Given the description of an element on the screen output the (x, y) to click on. 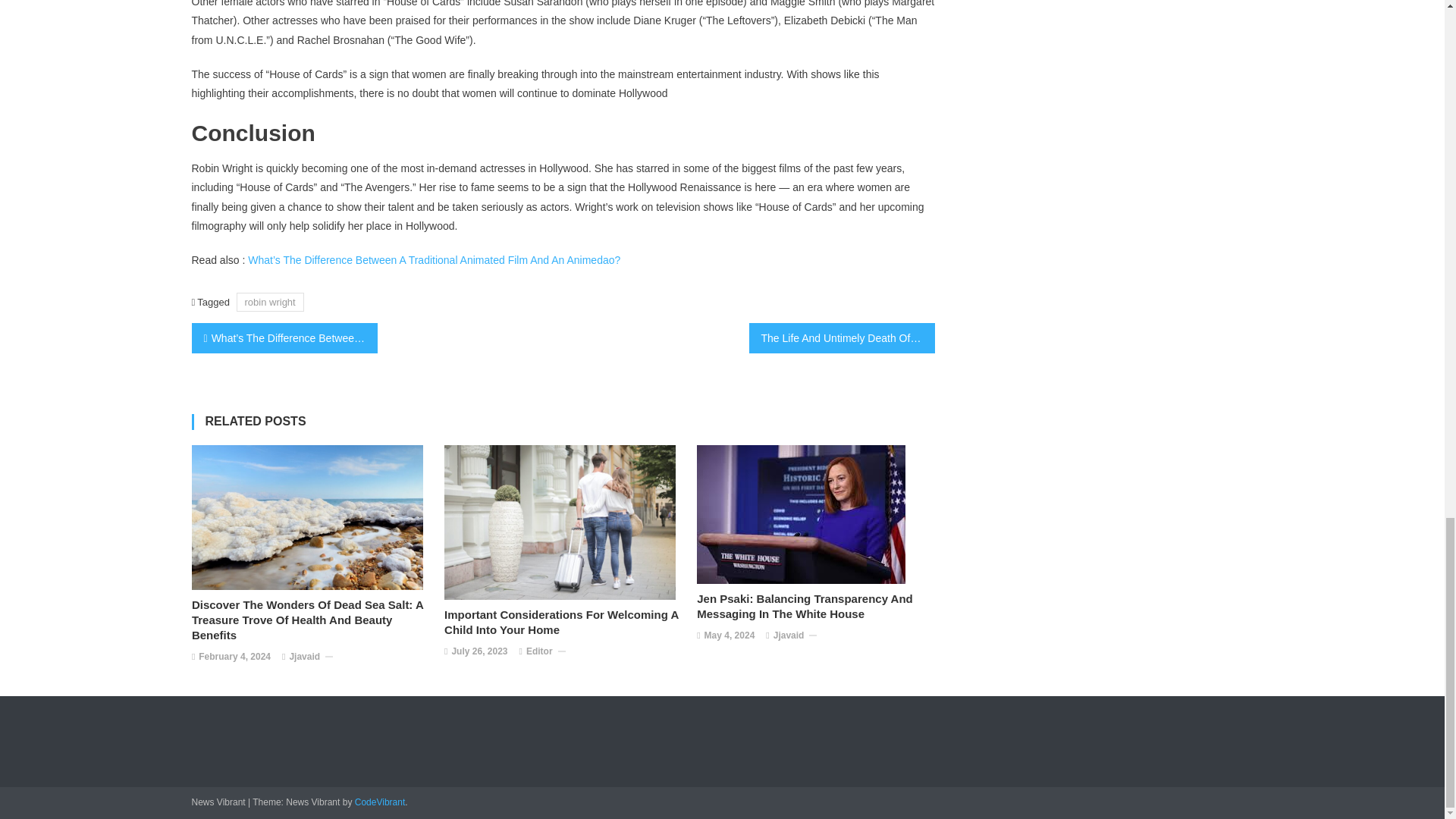
Jjavaid (304, 657)
robin wright (269, 302)
Jjavaid (789, 636)
February 4, 2024 (234, 657)
The Life And Untimely Death Of Actor Freddie Prinze Jr (841, 337)
Editor (539, 651)
May 4, 2024 (729, 636)
July 26, 2023 (478, 651)
